Given the description of an element on the screen output the (x, y) to click on. 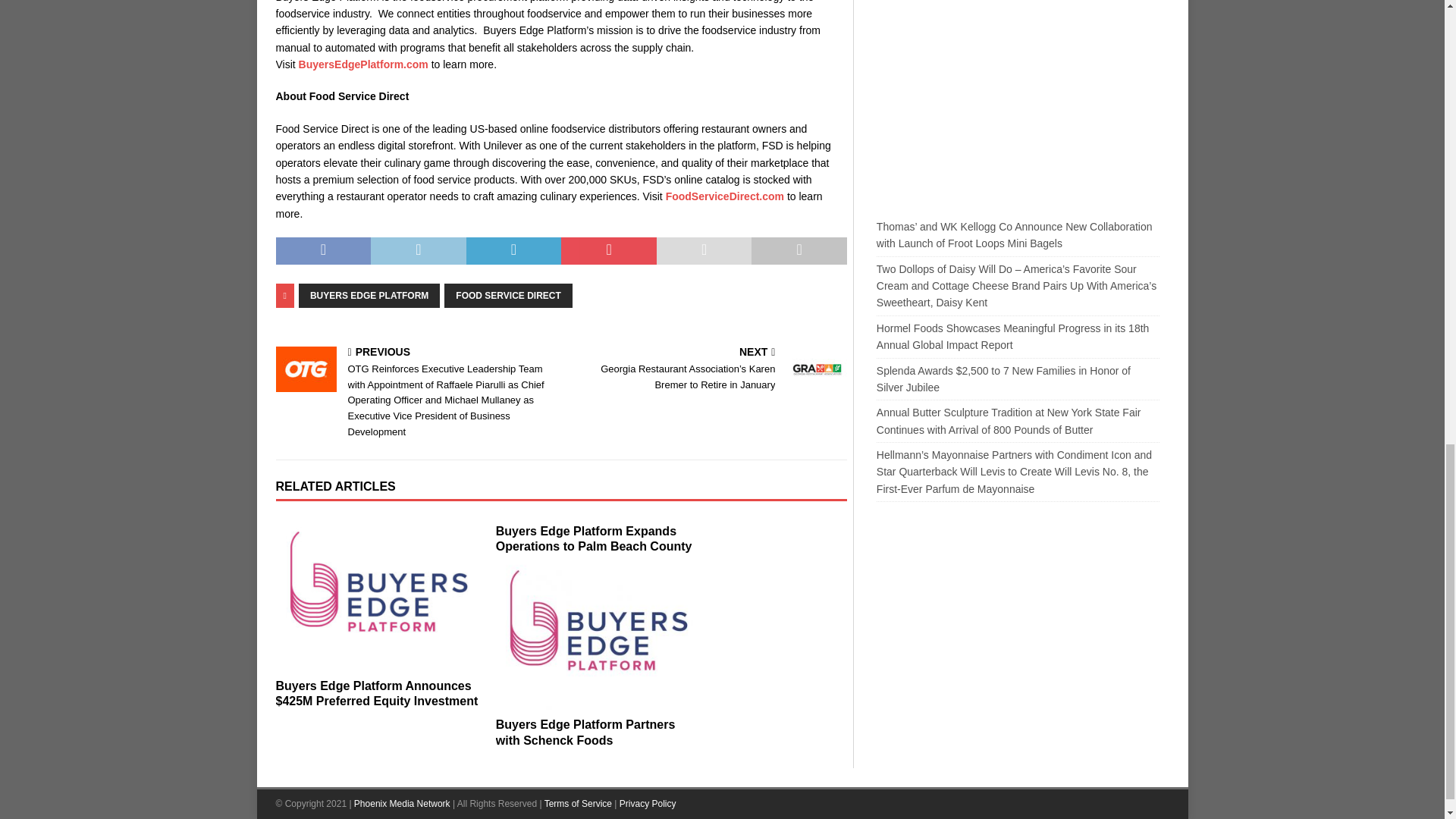
FoodServiceDirect.com (724, 196)
Buyers Edge Platform Partners with Schenck Foods (598, 632)
Buyers Edge Platform Partners with Schenck Foods (585, 732)
BuyersEdgePlatform.com (363, 64)
Buyers Edge Platform Expands Operations to Palm Beach County (594, 538)
FOOD SERVICE DIRECT (508, 295)
BUYERS EDGE PLATFORM (368, 295)
